Given the description of an element on the screen output the (x, y) to click on. 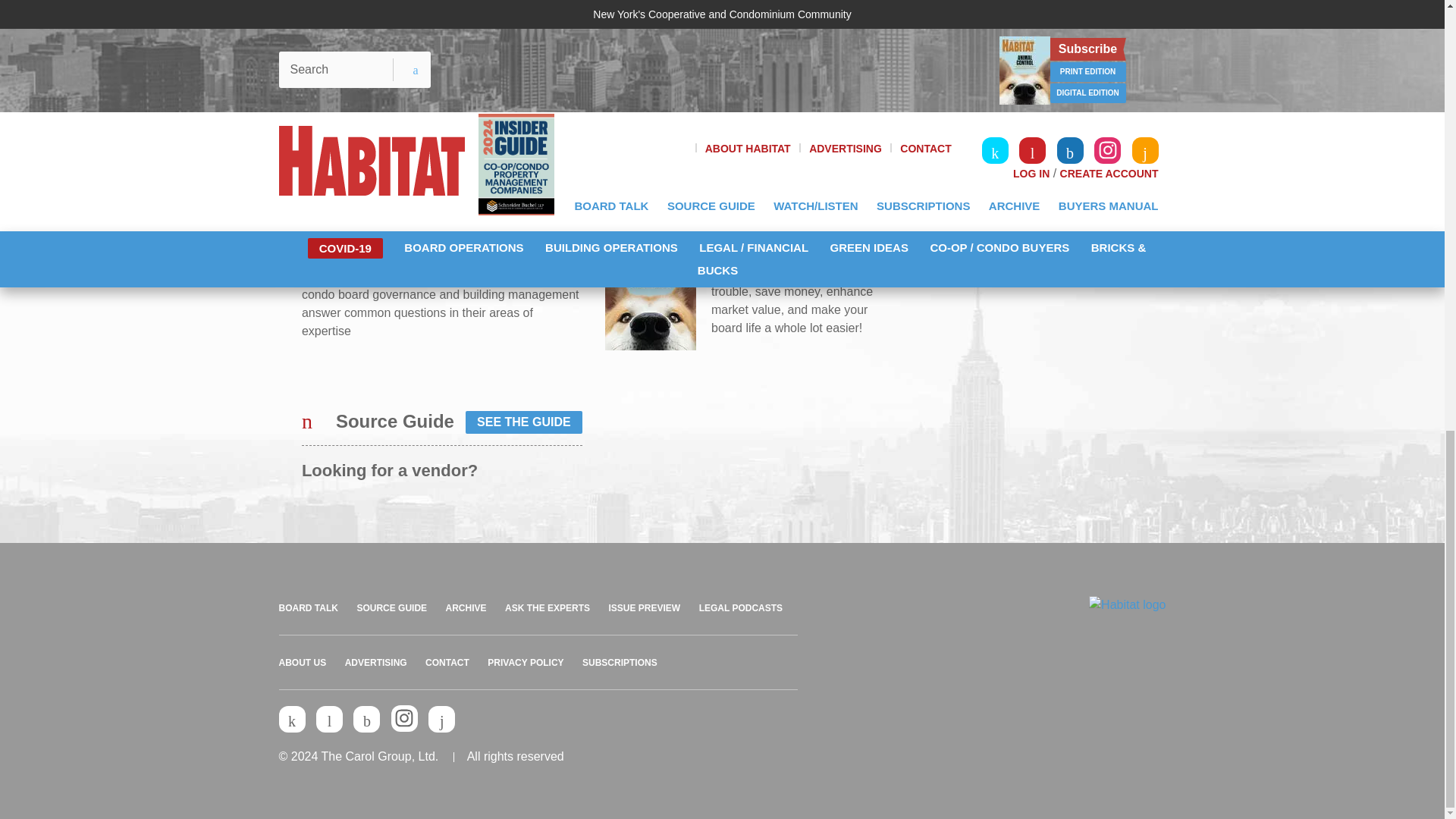
Visit Instagram page (404, 718)
